Given the description of an element on the screen output the (x, y) to click on. 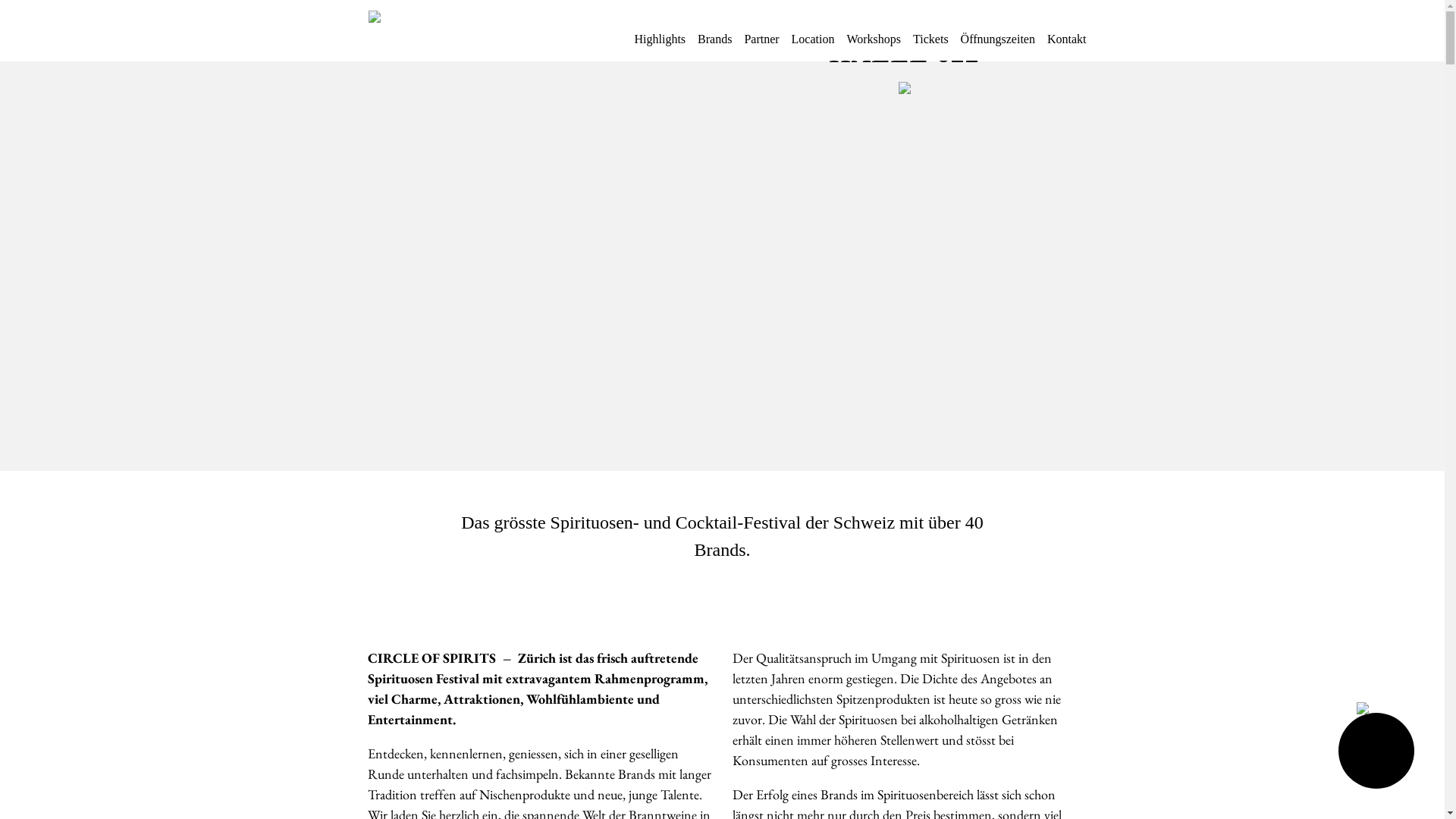
Brands Element type: text (714, 45)
Partner Element type: text (760, 45)
Kontakt Element type: text (1066, 45)
Tickets Element type: text (930, 45)
Location Element type: text (812, 45)
Workshops Element type: text (873, 45)
Highlights Element type: text (659, 45)
